Given the description of an element on the screen output the (x, y) to click on. 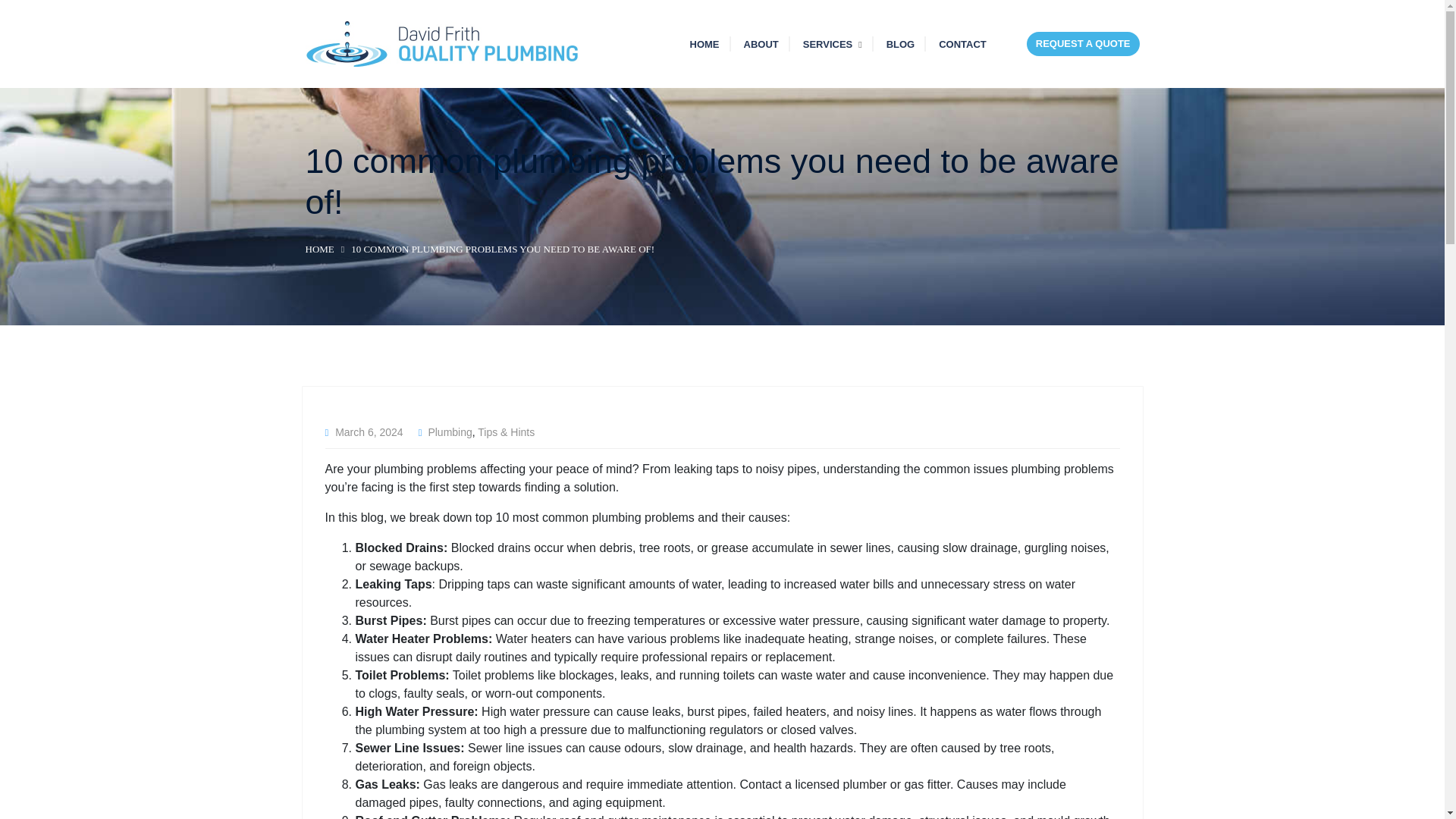
HOME (704, 43)
March 6, 2024 (368, 431)
ABOUT (759, 43)
SERVICES (832, 43)
REQUEST A QUOTE (1083, 43)
BLOG (900, 43)
HOME (318, 248)
CONTACT (963, 43)
